Given the description of an element on the screen output the (x, y) to click on. 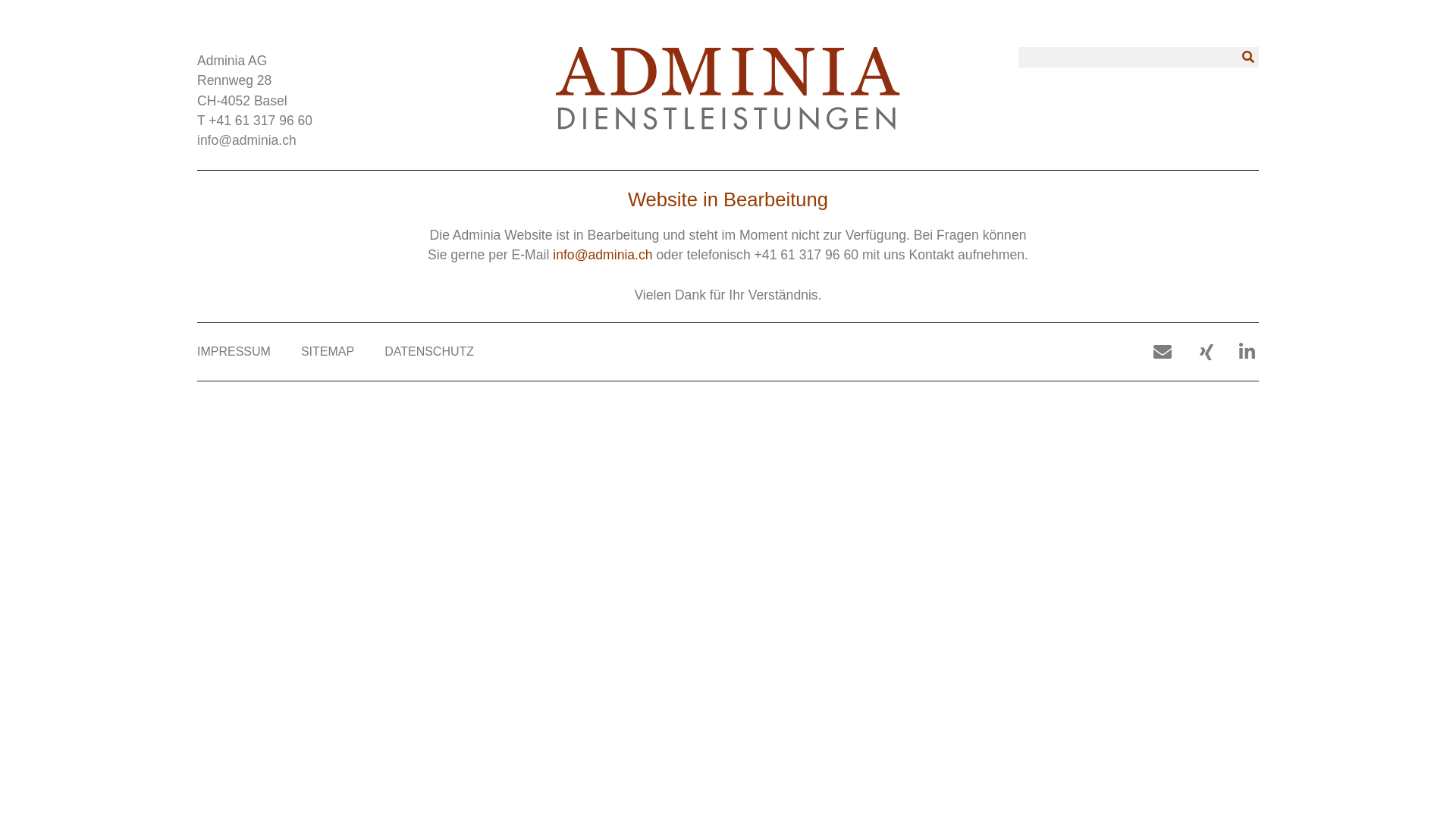
SITEMAP Element type: text (327, 351)
DATENSCHUTZ Element type: text (428, 351)
IMPRESSUM Element type: text (233, 351)
info@adminia.ch Element type: text (602, 254)
info@adminia.ch Element type: text (246, 139)
